Given the description of an element on the screen output the (x, y) to click on. 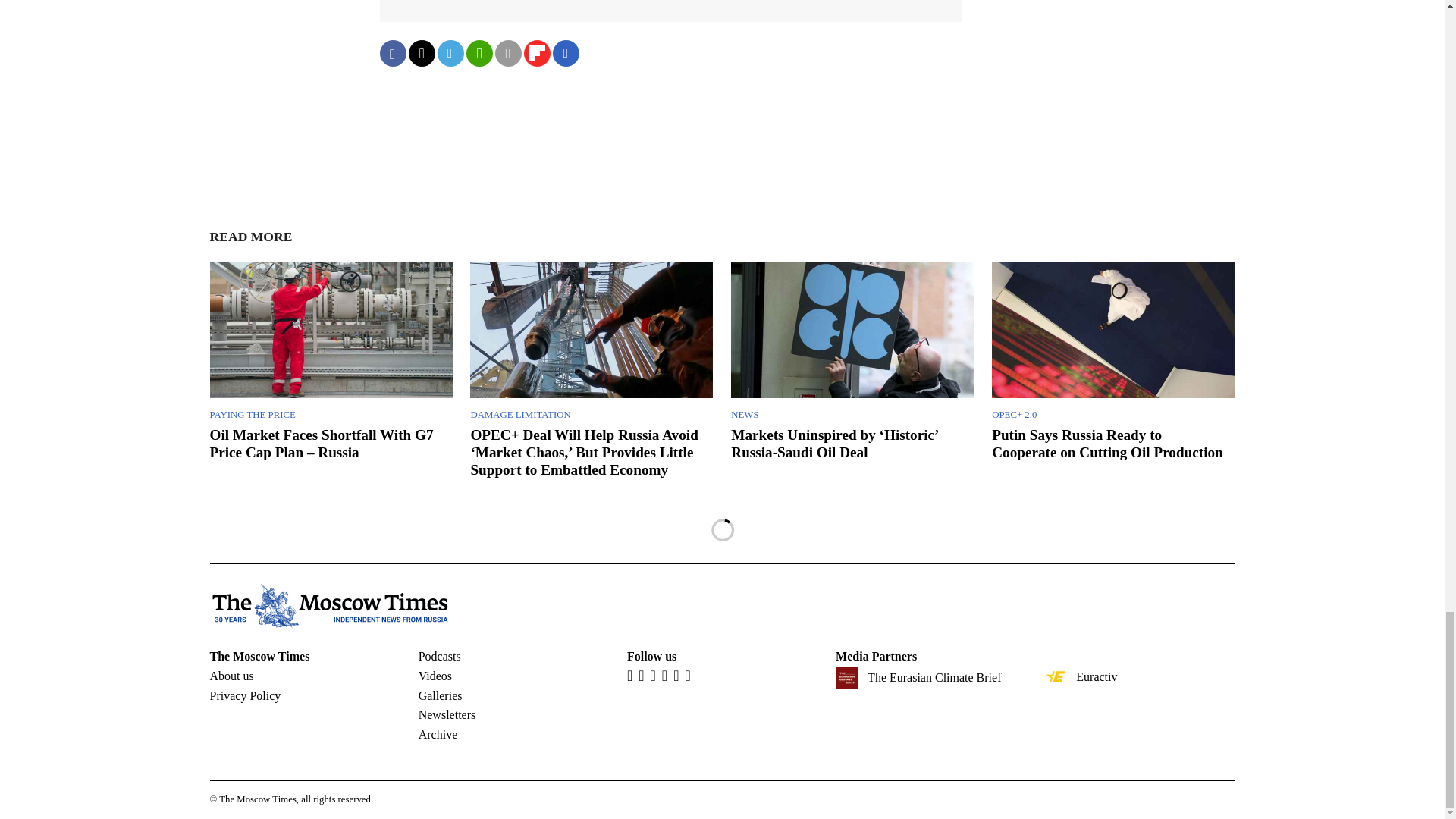
Share on Twitter (420, 53)
Share on Flipboard (536, 53)
Share on Telegram (449, 53)
Share on Facebook (392, 53)
